Given the description of an element on the screen output the (x, y) to click on. 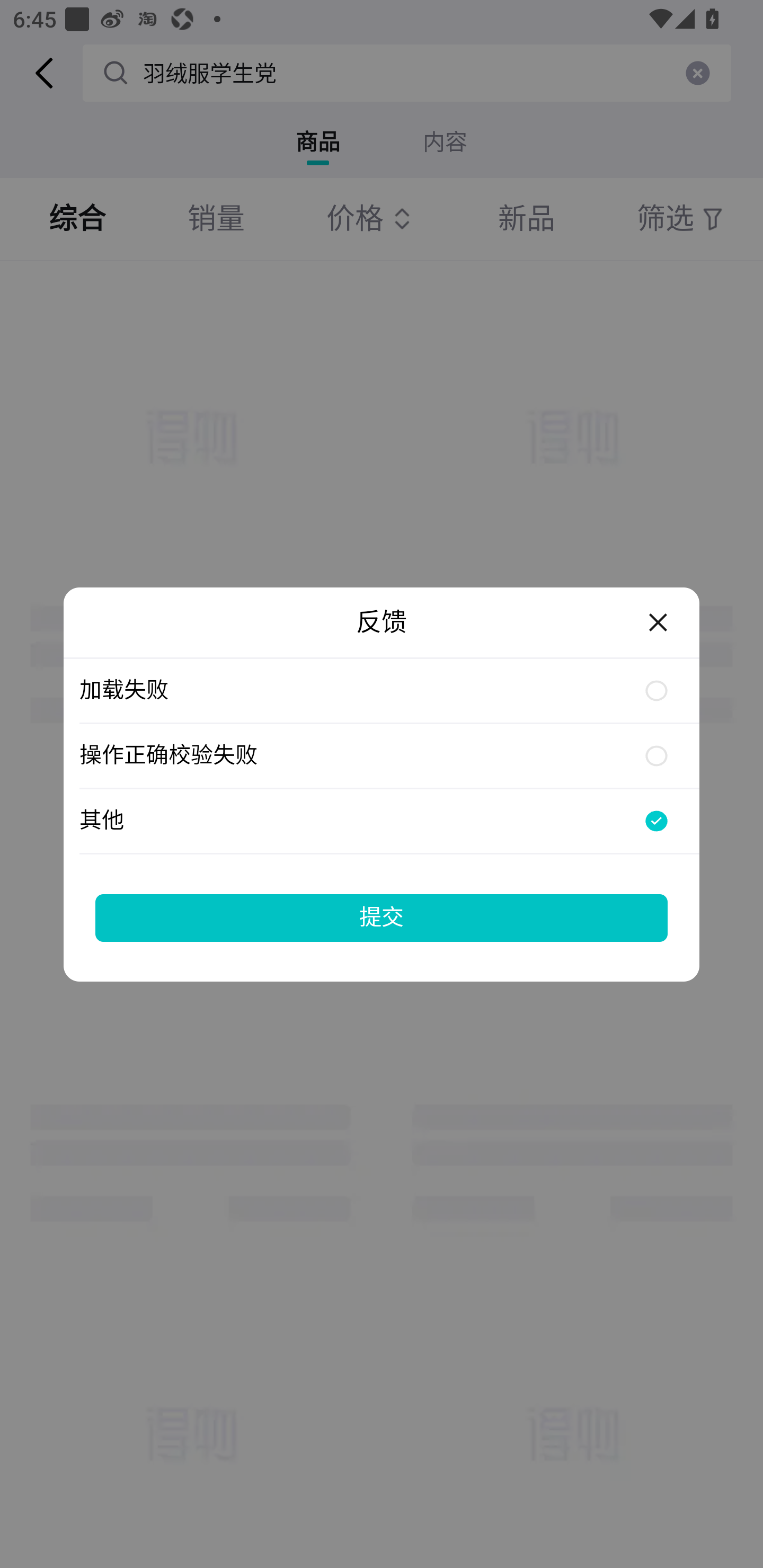
提交 (381, 917)
